Given the description of an element on the screen output the (x, y) to click on. 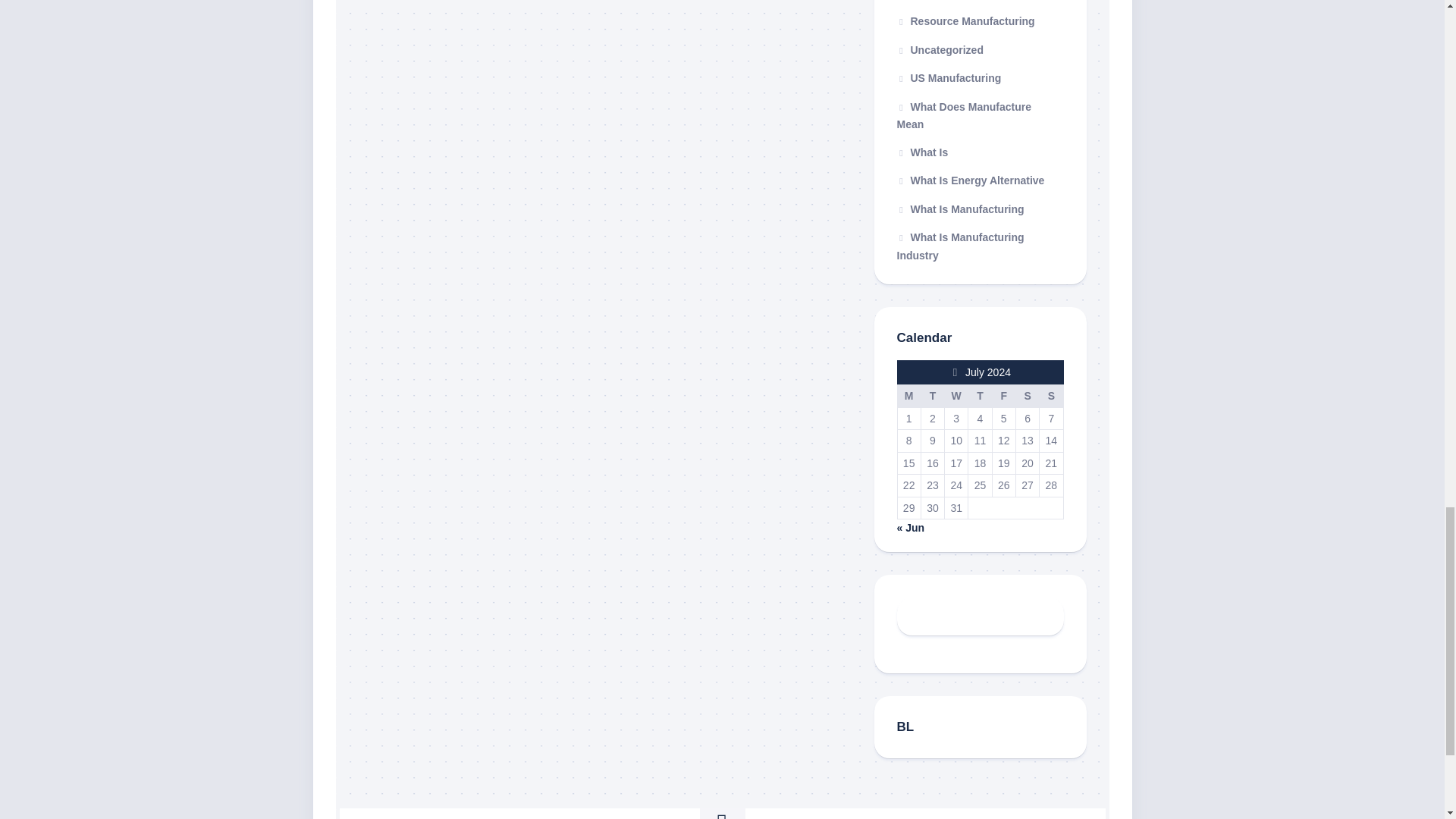
Friday (1002, 395)
Wednesday (956, 395)
Sunday (1050, 395)
Thursday (979, 395)
Tuesday (931, 395)
Monday (908, 395)
Saturday (1026, 395)
